Given the description of an element on the screen output the (x, y) to click on. 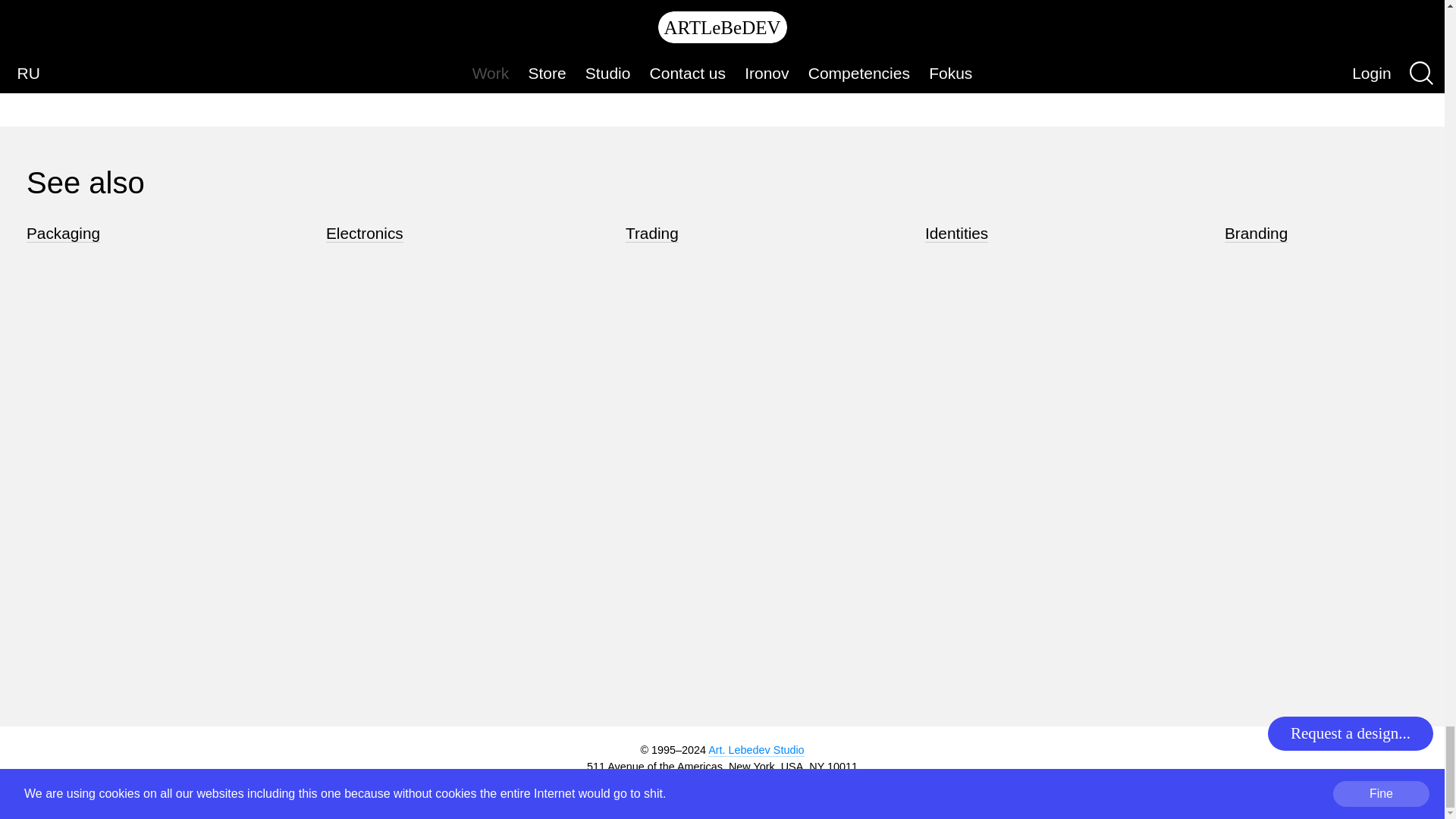
Anna Potapkina (906, 33)
Irina Zolotareva (275, 49)
Ksenia Lazareva (908, 77)
Anna Shokolenko (1119, 33)
Bulat Mavliutov (1114, 49)
Anastasia Bordunova (710, 77)
Aleksandra Savelkaeva (715, 33)
Vadim Kim (472, 33)
Egor Kosolapov (276, 33)
Vladimir Pavlenko (281, 65)
